Given the description of an element on the screen output the (x, y) to click on. 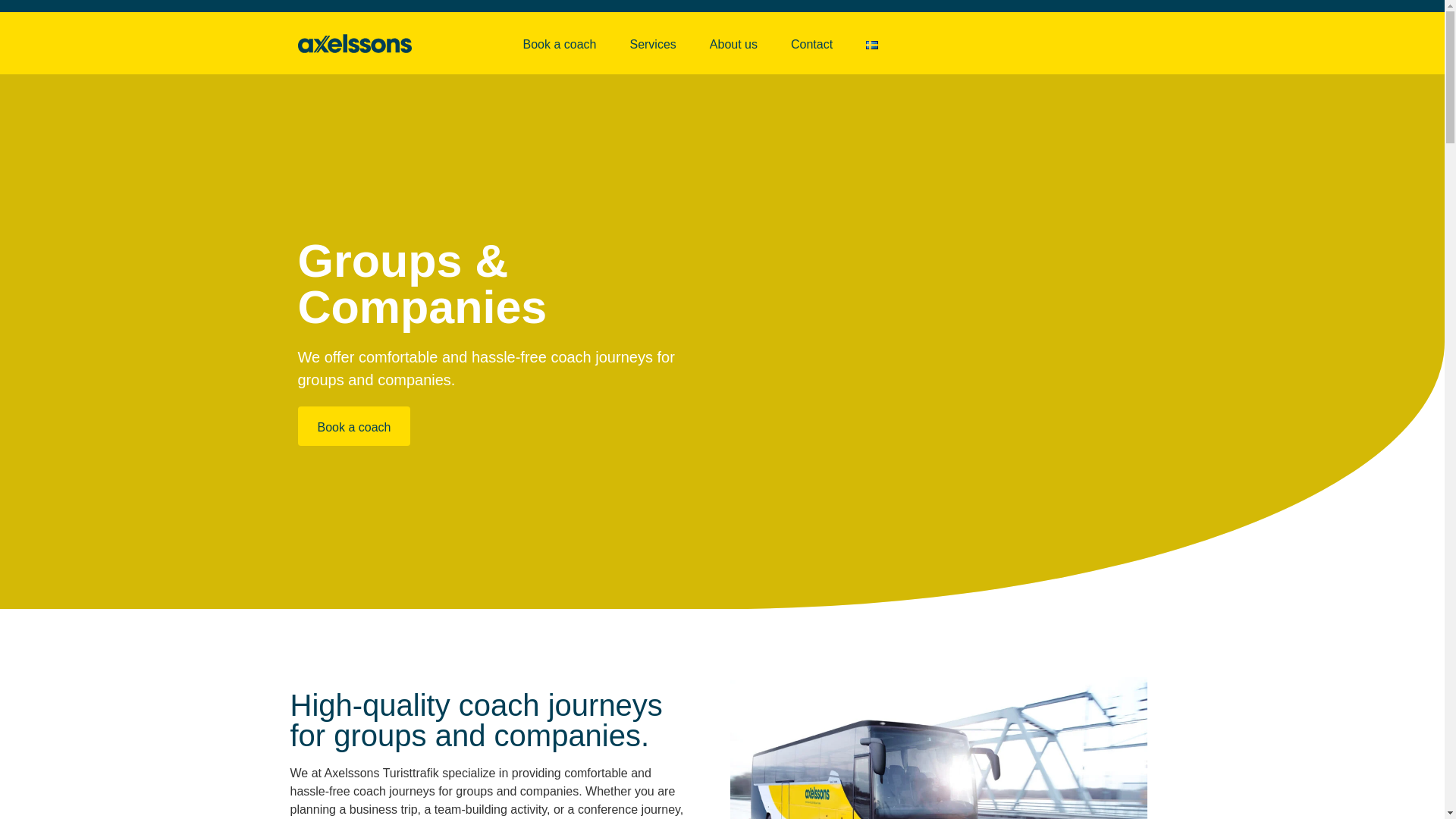
Book a coach (559, 43)
About us (733, 43)
Services (652, 43)
Contact (811, 43)
